Given the description of an element on the screen output the (x, y) to click on. 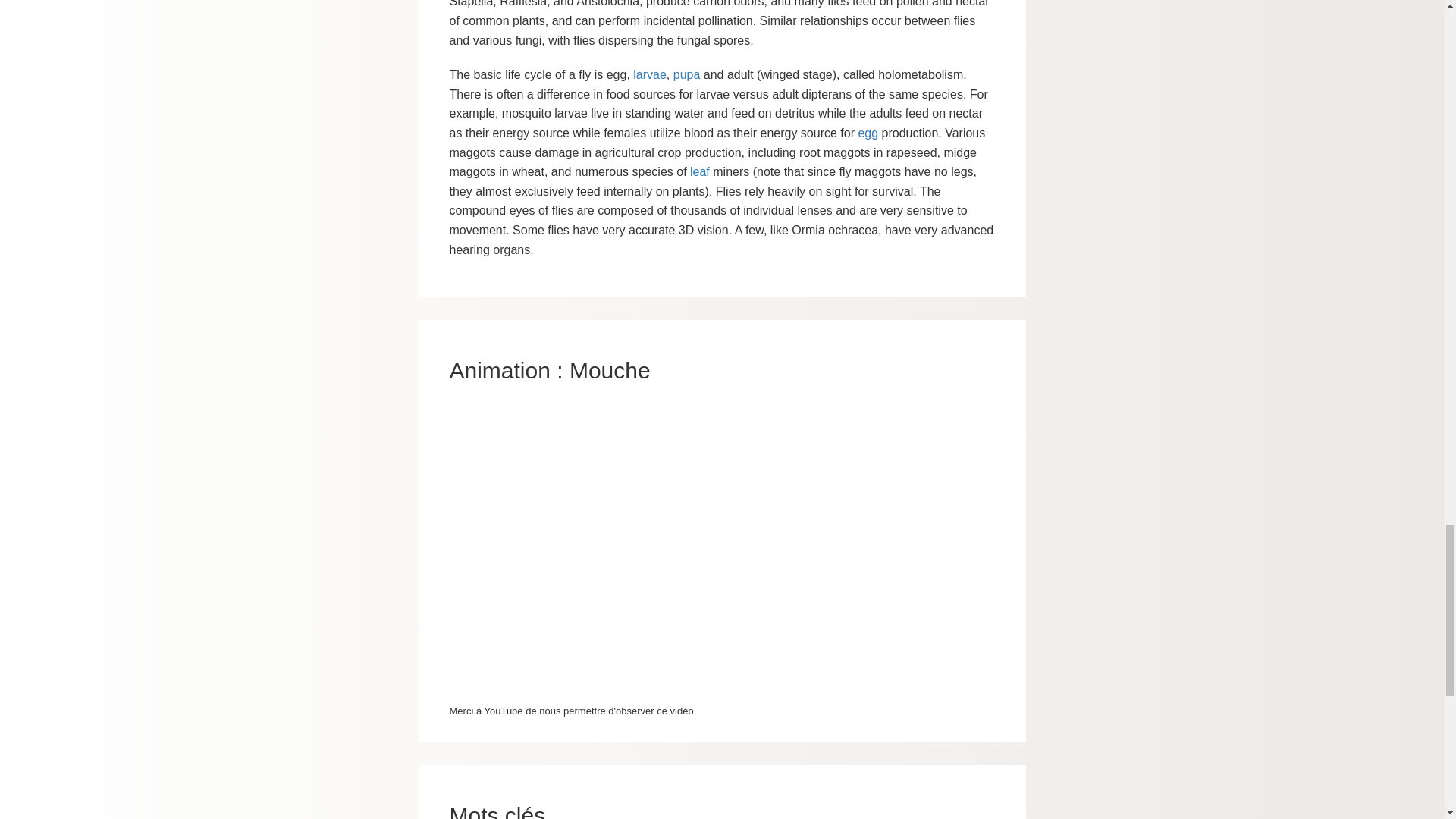
pupa (686, 74)
larvae (649, 74)
leaf (700, 171)
egg (867, 132)
